Given the description of an element on the screen output the (x, y) to click on. 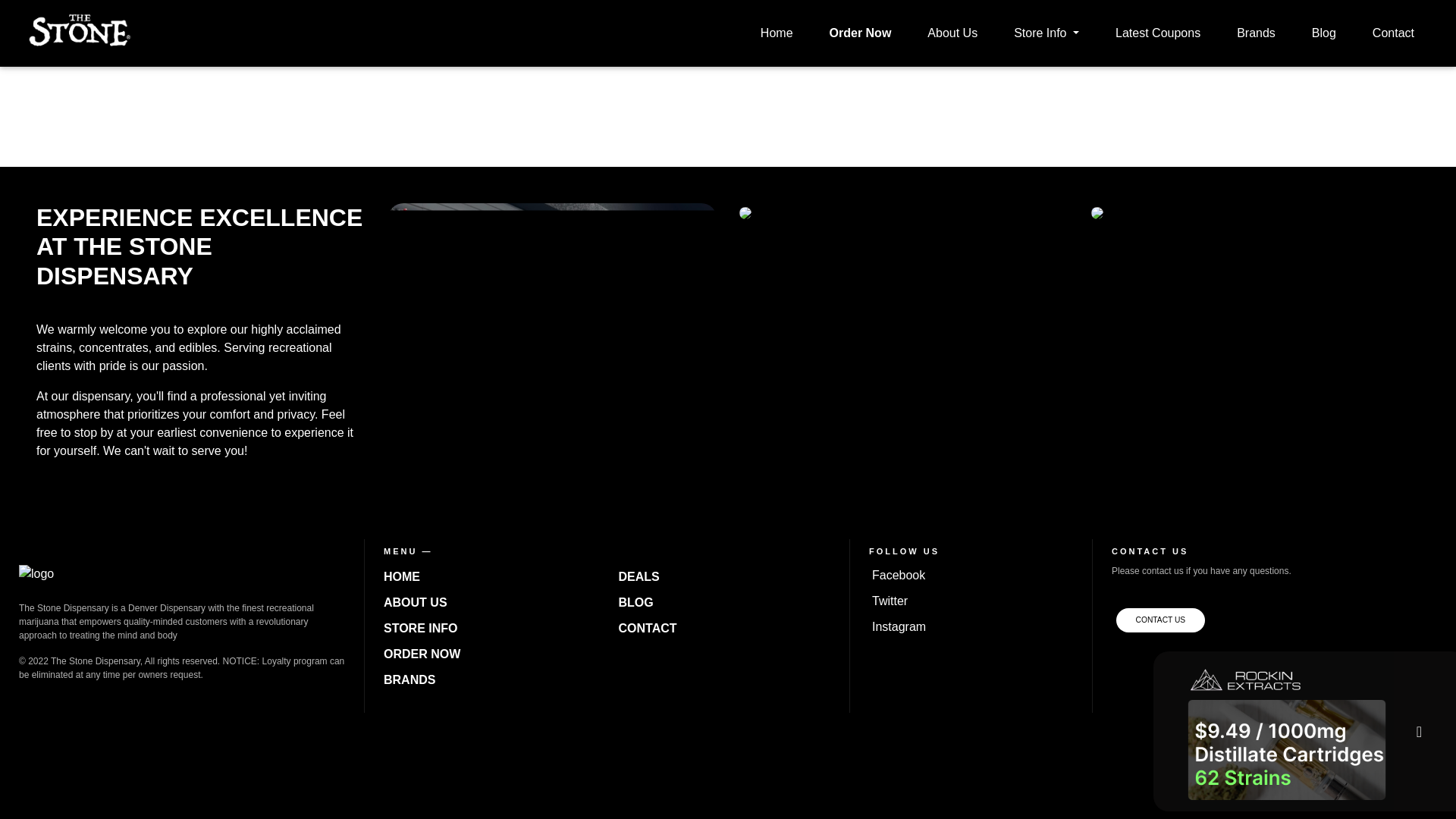
DEALS (638, 576)
BLOG (634, 602)
Twitter (889, 600)
ABOUT US (415, 602)
Store Info (1045, 33)
Contact (1394, 33)
HOME (402, 576)
Blog (1324, 33)
Brands (1255, 33)
ORDER NOW (422, 653)
